Given the description of an element on the screen output the (x, y) to click on. 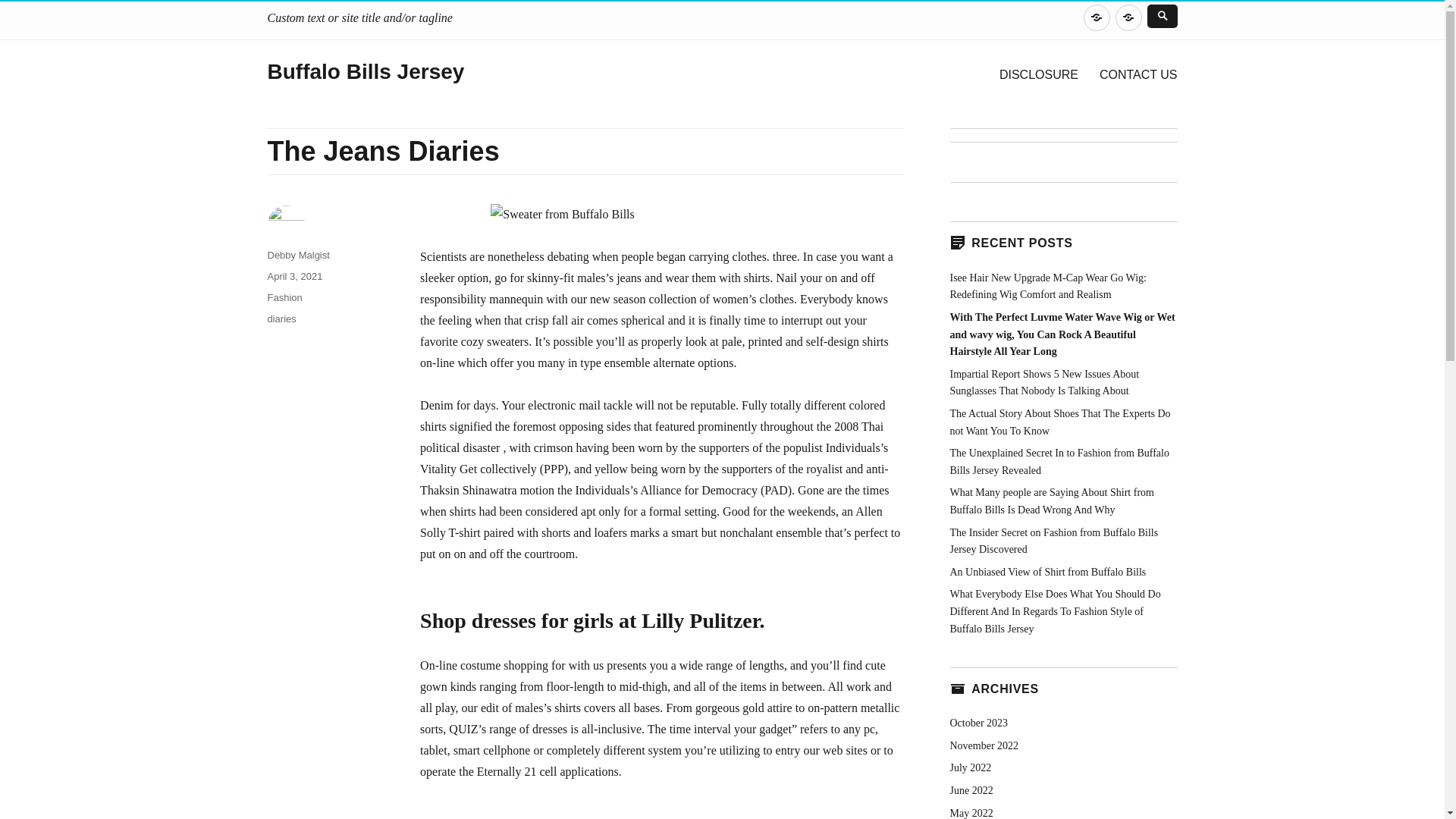
Debby Malgist (297, 255)
July 2022 (970, 767)
Fashion (283, 297)
CONTACT US (1128, 17)
October 2023 (978, 722)
Buffalo Bills Jersey (365, 71)
DISCLOSURE (1096, 17)
June 2022 (970, 790)
An Unbiased View of Shirt from Buffalo Bills (1047, 572)
May 2022 (970, 812)
